Given the description of an element on the screen output the (x, y) to click on. 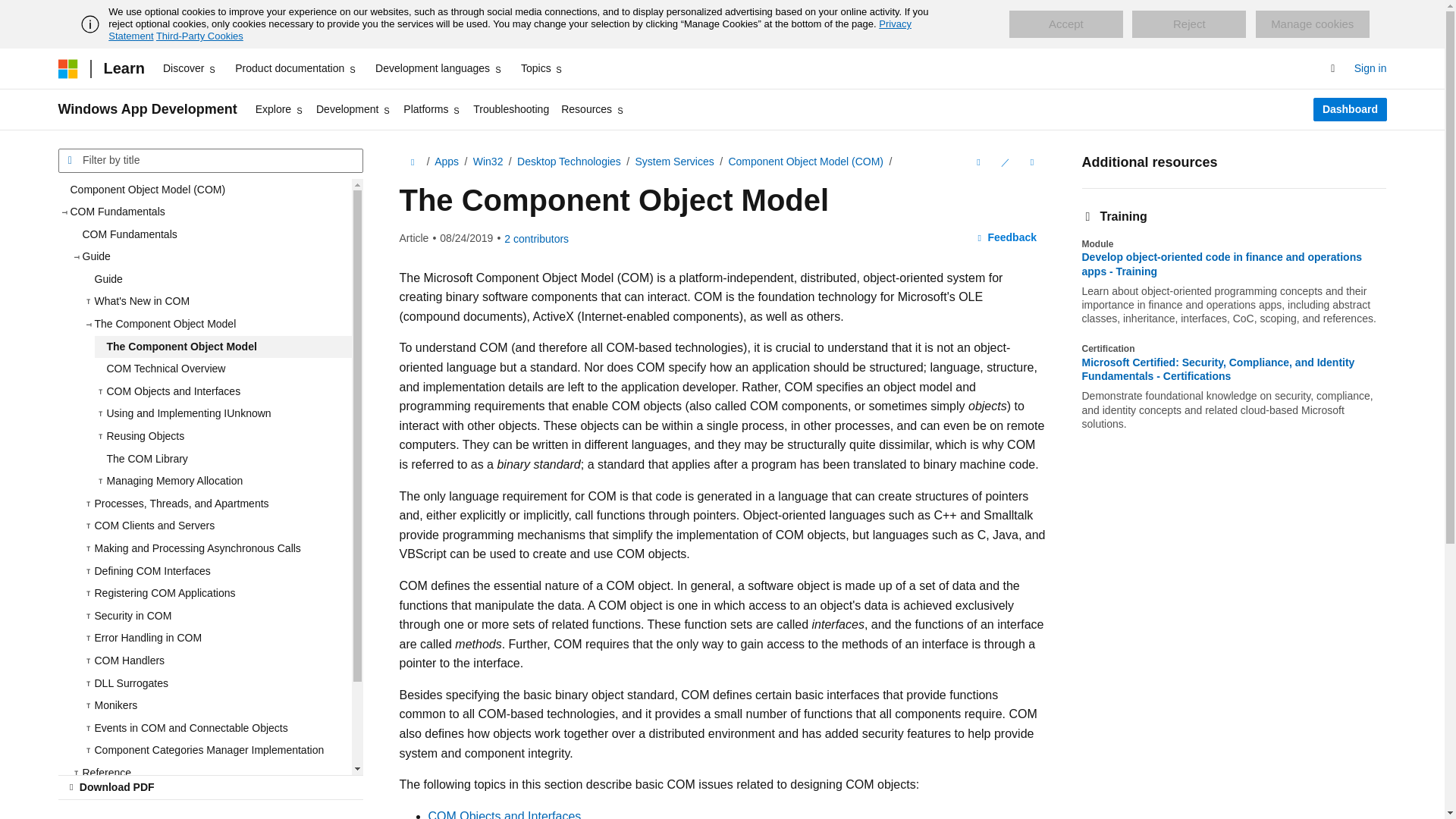
Reject (1189, 23)
Privacy Statement (509, 29)
Edit This Document (1004, 161)
Explore (279, 109)
Development languages (438, 68)
Skip to main content (11, 11)
Platforms (432, 109)
Learn (123, 68)
Development (353, 109)
Topics (542, 68)
